Given the description of an element on the screen output the (x, y) to click on. 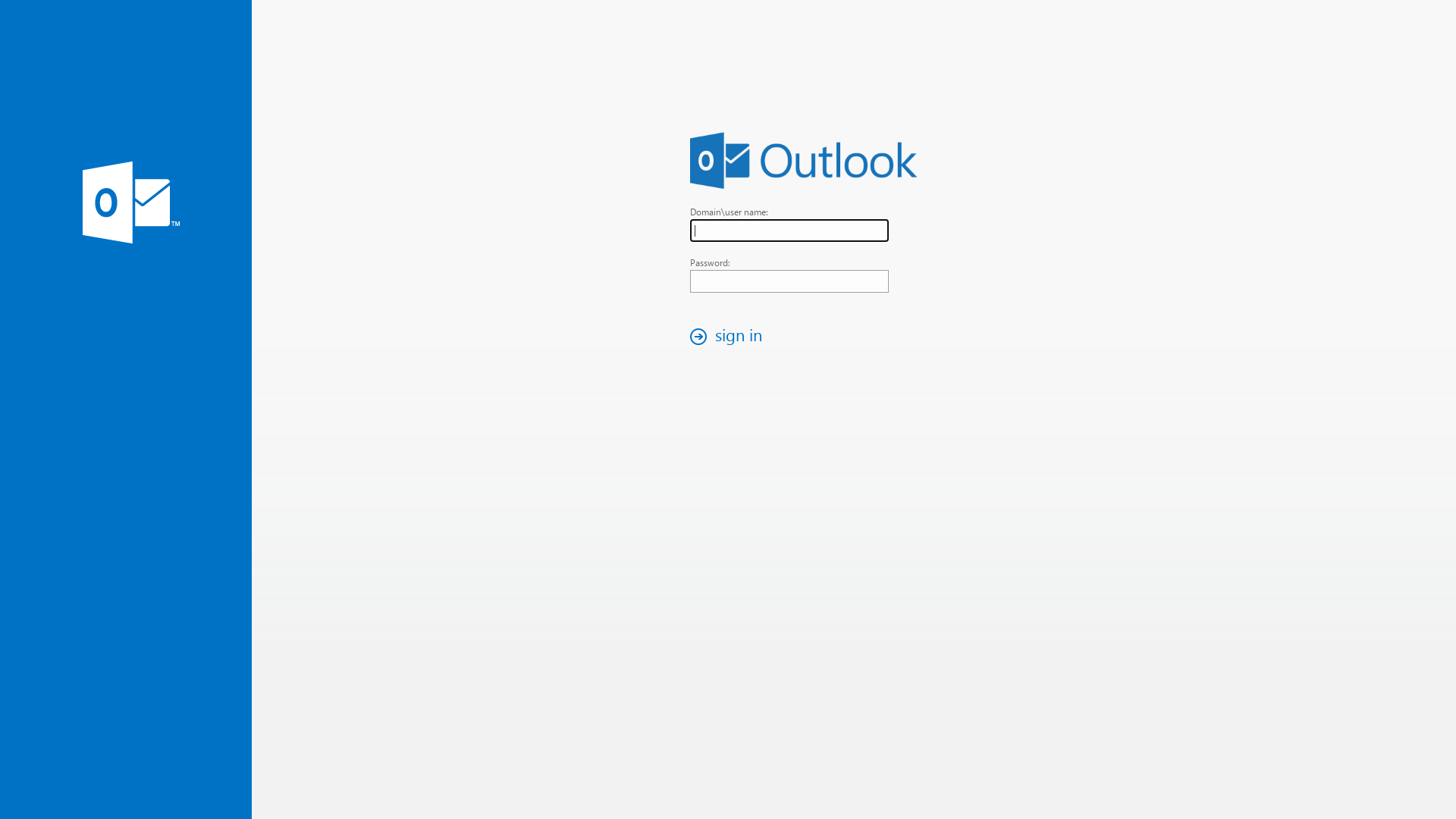
sign in Element type: text (730, 336)
